Given the description of an element on the screen output the (x, y) to click on. 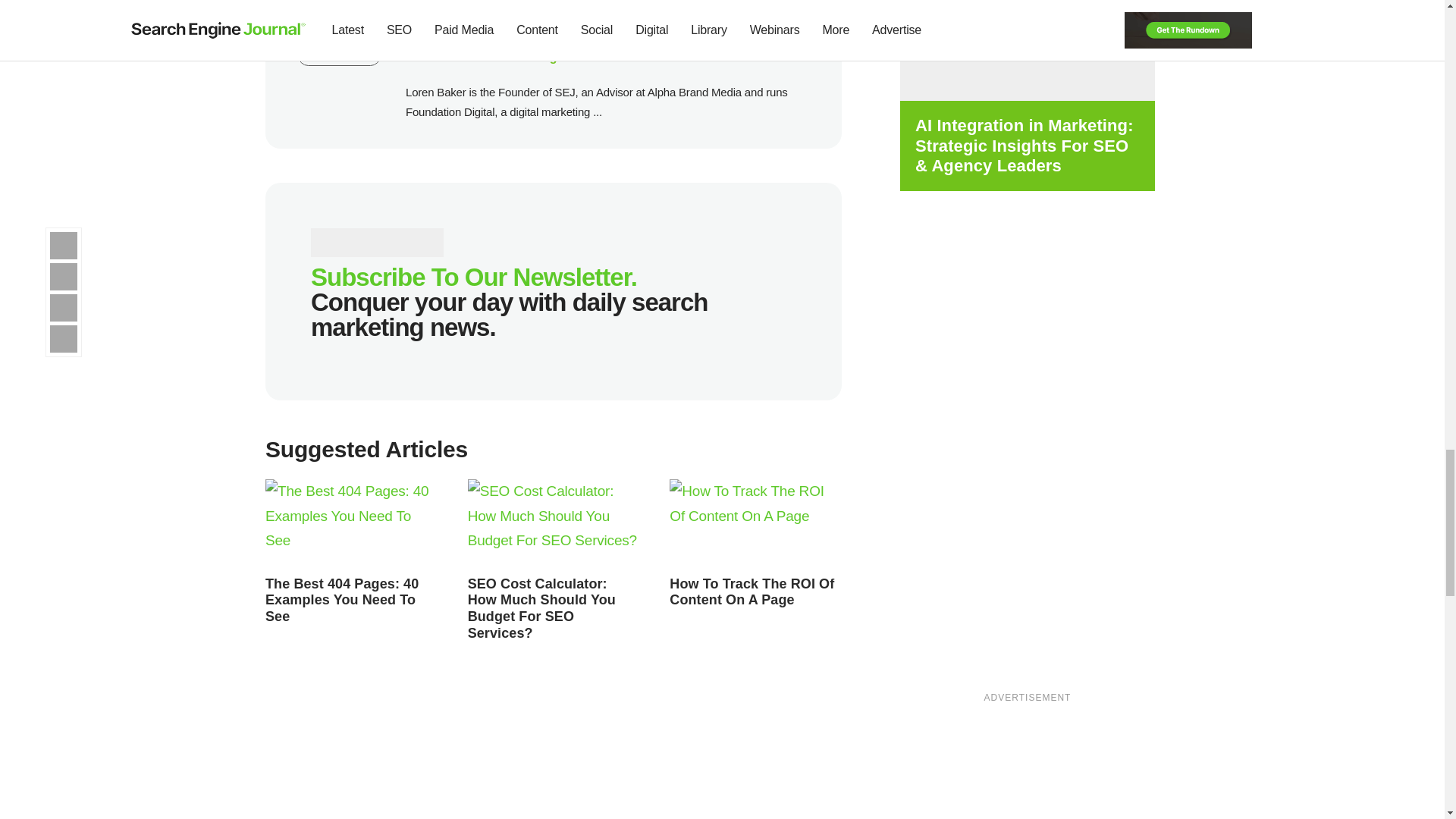
Read the Article (553, 523)
Read the Article (341, 600)
Read the Article (755, 523)
Read the Article (541, 608)
Read the Article (751, 592)
Read the Article (351, 523)
